Given the description of an element on the screen output the (x, y) to click on. 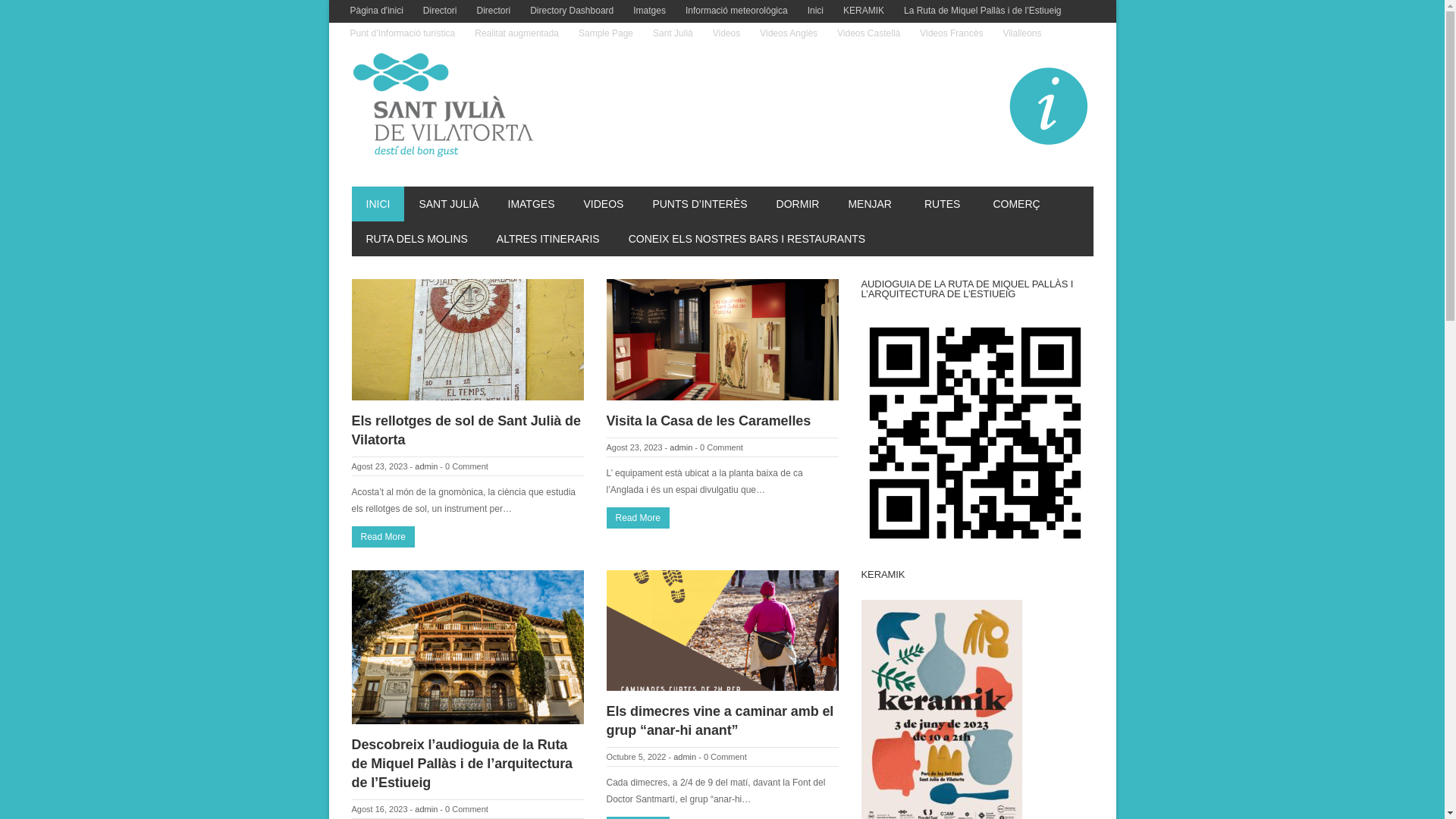
admin Element type: text (684, 756)
CONEIX ELS NOSTRES BARS I RESTAURANTS Element type: text (746, 238)
RUTA DELS MOLINS Element type: text (416, 238)
Read More Element type: text (382, 536)
DORMIR Element type: text (798, 203)
Imatges Element type: text (649, 11)
Inici Element type: text (815, 11)
Realitat augmentada Element type: text (516, 33)
admin Element type: text (680, 446)
INICI Element type: text (377, 203)
RUTES Element type: text (944, 203)
Read More Element type: text (637, 517)
Directori Element type: text (493, 11)
Directory Dashboard Element type: text (571, 11)
admin Element type: text (425, 465)
IMATGES Element type: text (530, 203)
KERAMIK Element type: text (863, 11)
Directori Element type: text (440, 11)
Videos Element type: text (725, 33)
Sample Page Element type: text (605, 33)
Visita la Casa de les Caramelles Element type: text (708, 420)
MENJAR Element type: text (871, 203)
admin Element type: text (425, 808)
Vilalleons Element type: text (1021, 33)
VIDEOS Element type: text (602, 203)
ALTRES ITINERARIS Element type: text (548, 238)
